Given the description of an element on the screen output the (x, y) to click on. 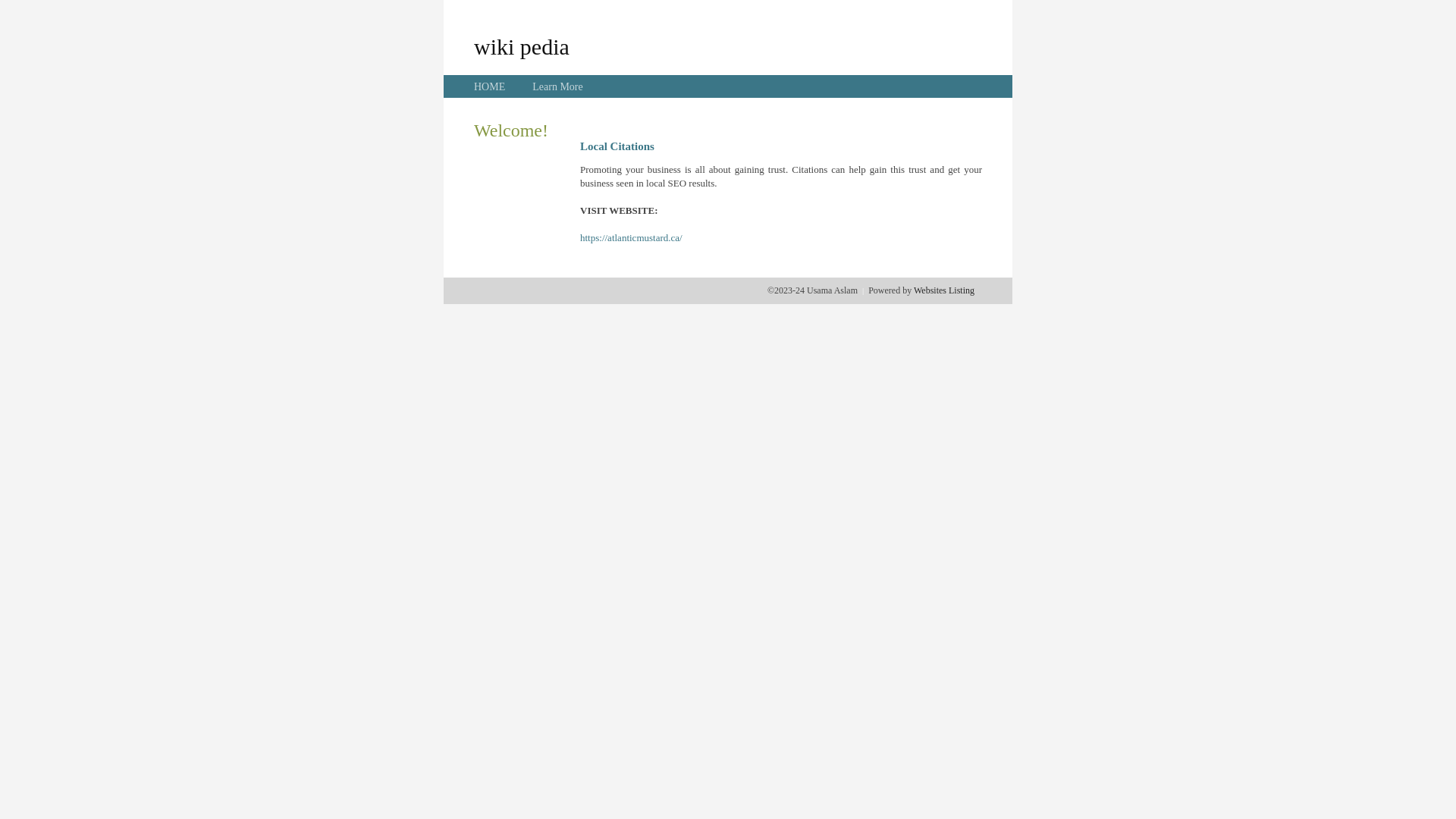
https://atlanticmustard.ca/ Element type: text (631, 237)
Learn More Element type: text (557, 86)
Websites Listing Element type: text (943, 290)
wiki pedia Element type: text (521, 46)
HOME Element type: text (489, 86)
